Given the description of an element on the screen output the (x, y) to click on. 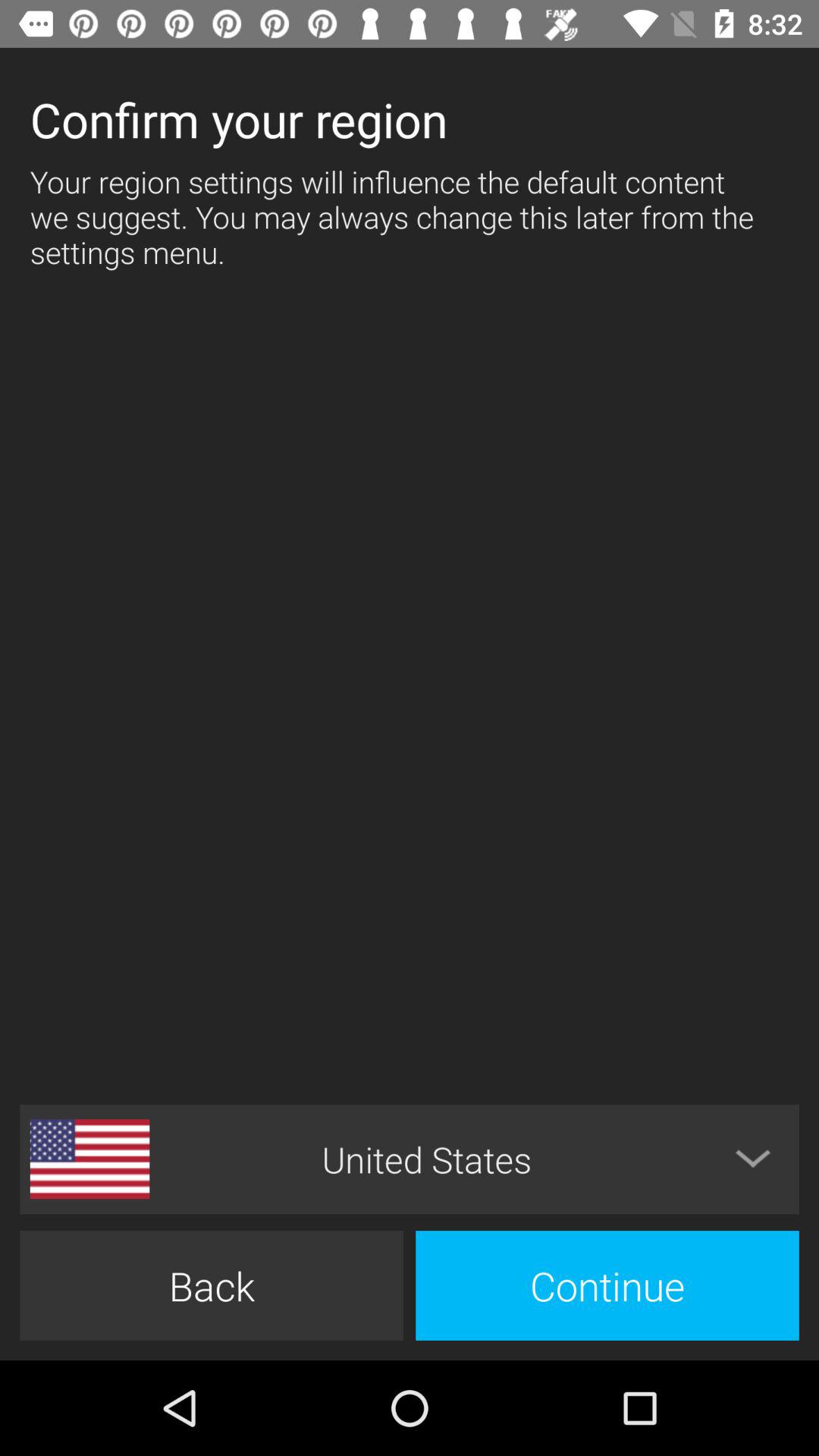
press the back item (211, 1285)
